Given the description of an element on the screen output the (x, y) to click on. 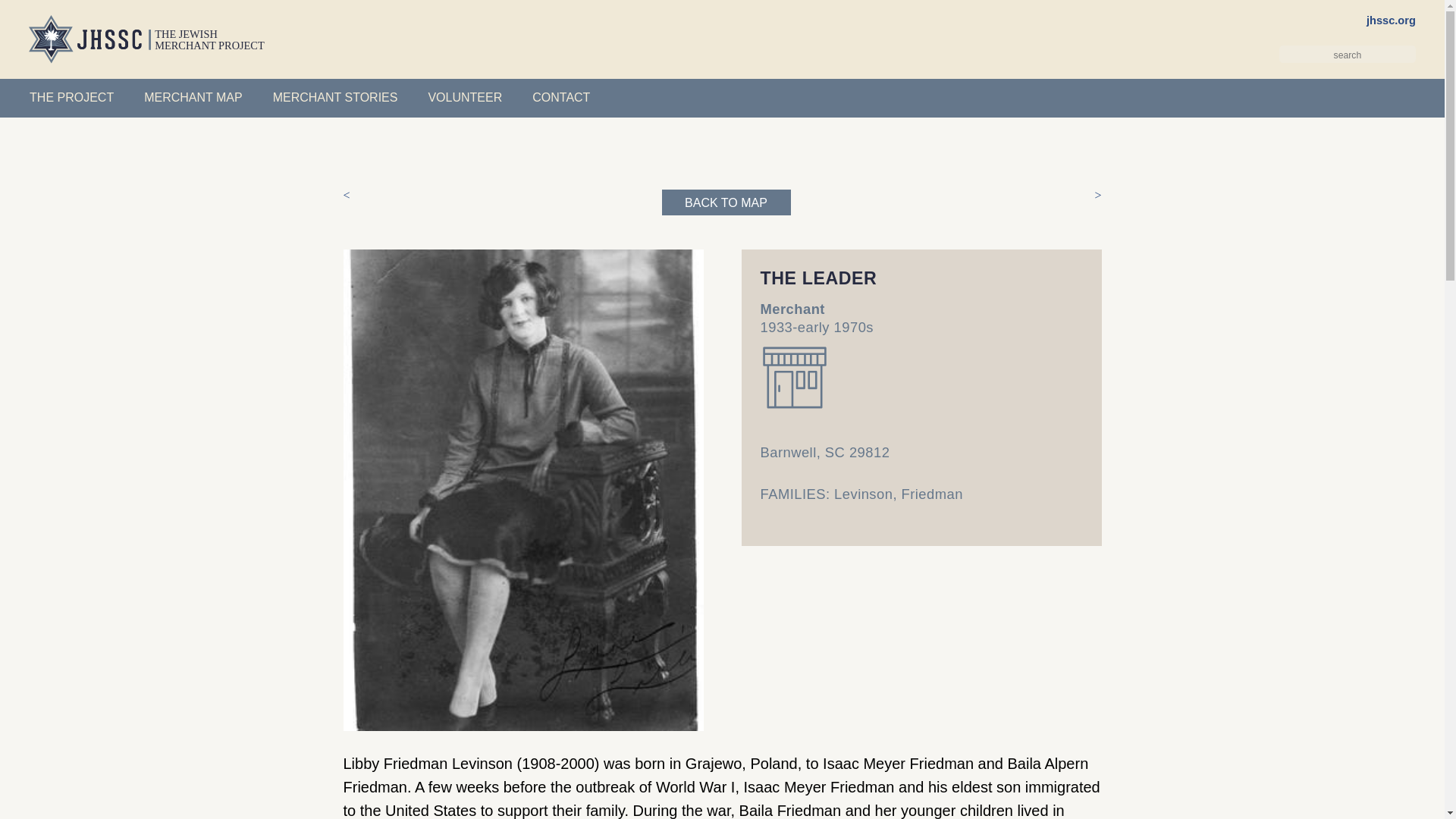
jhssc.org (1391, 20)
BACK TO MAP (725, 202)
VOLUNTEER (464, 97)
MERCHANT MAP (193, 97)
CONTACT (560, 97)
THE PROJECT (71, 97)
MERCHANT STORIES (335, 97)
